Given the description of an element on the screen output the (x, y) to click on. 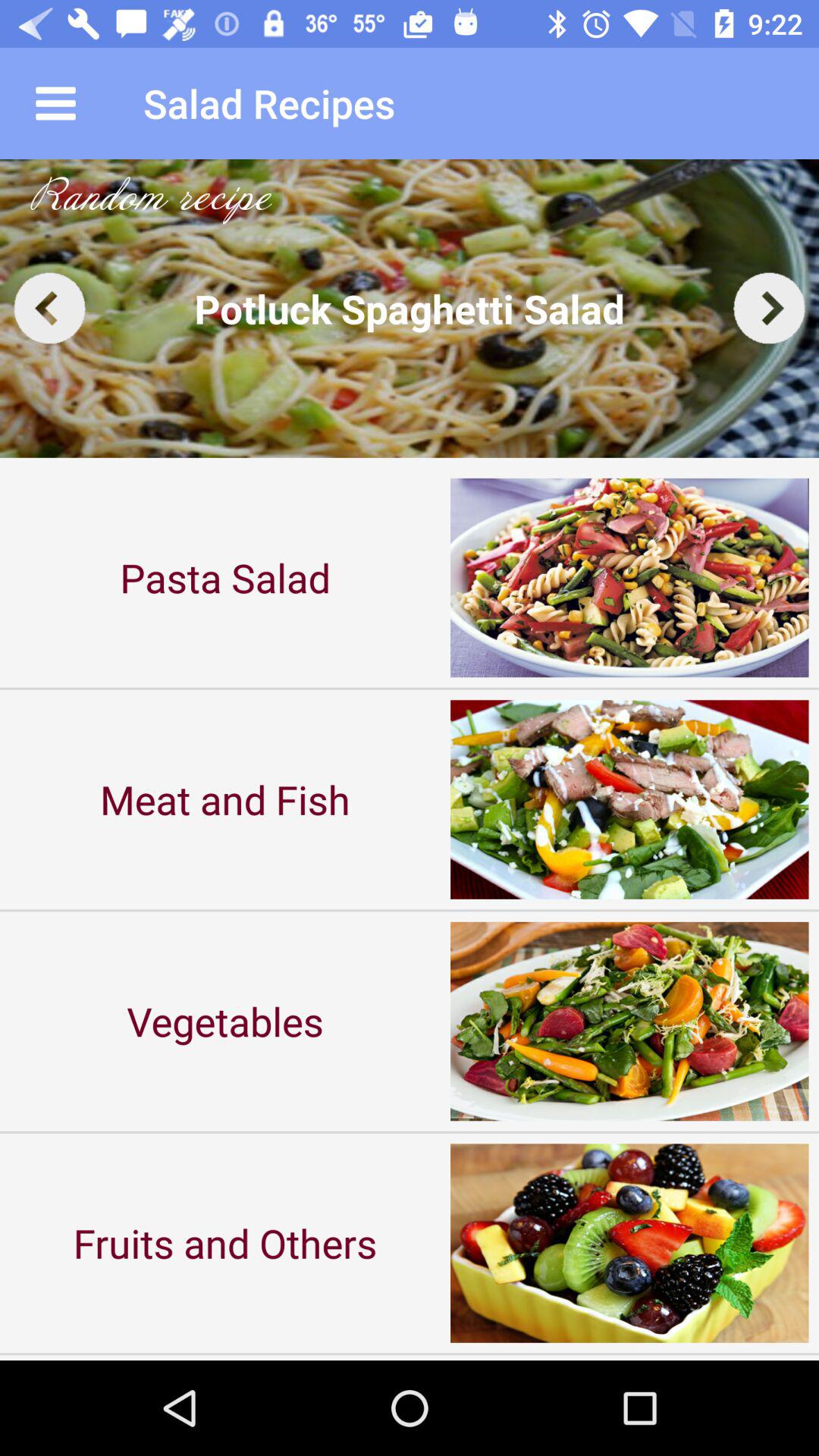
jump until the vegetables icon (225, 1020)
